Given the description of an element on the screen output the (x, y) to click on. 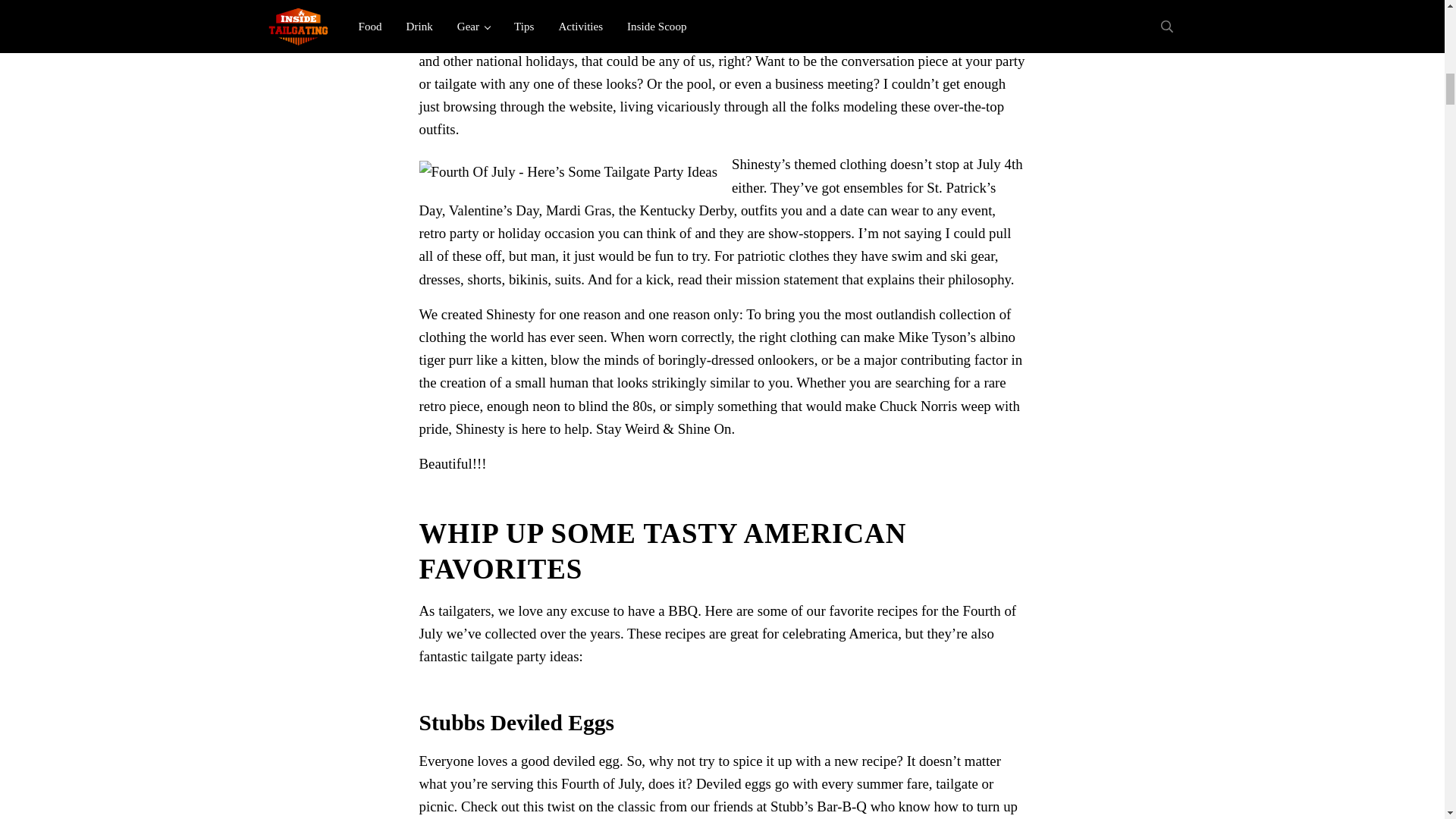
www.shinesty.com, (474, 14)
